Given the description of an element on the screen output the (x, y) to click on. 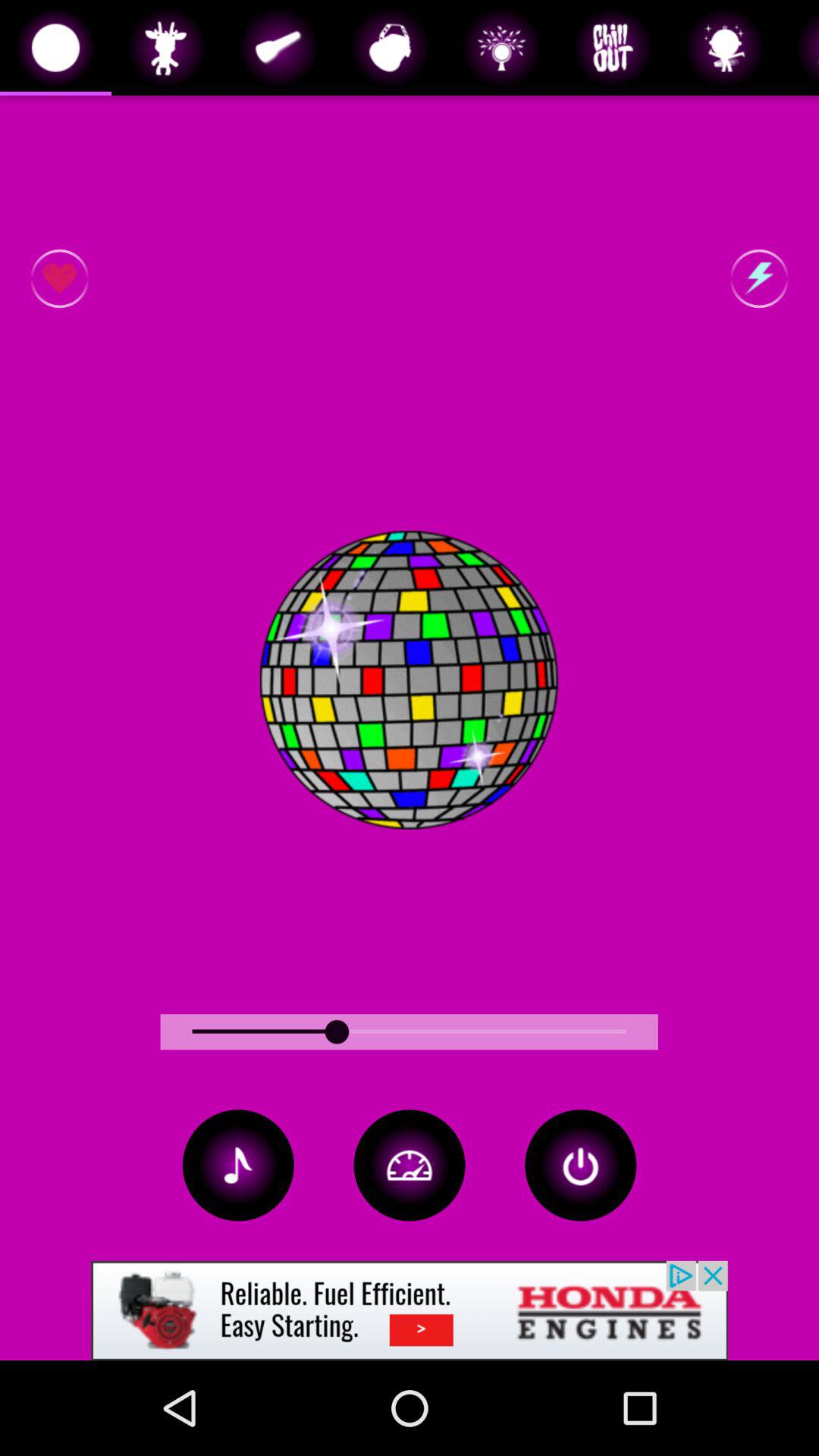
speed (409, 1165)
